Given the description of an element on the screen output the (x, y) to click on. 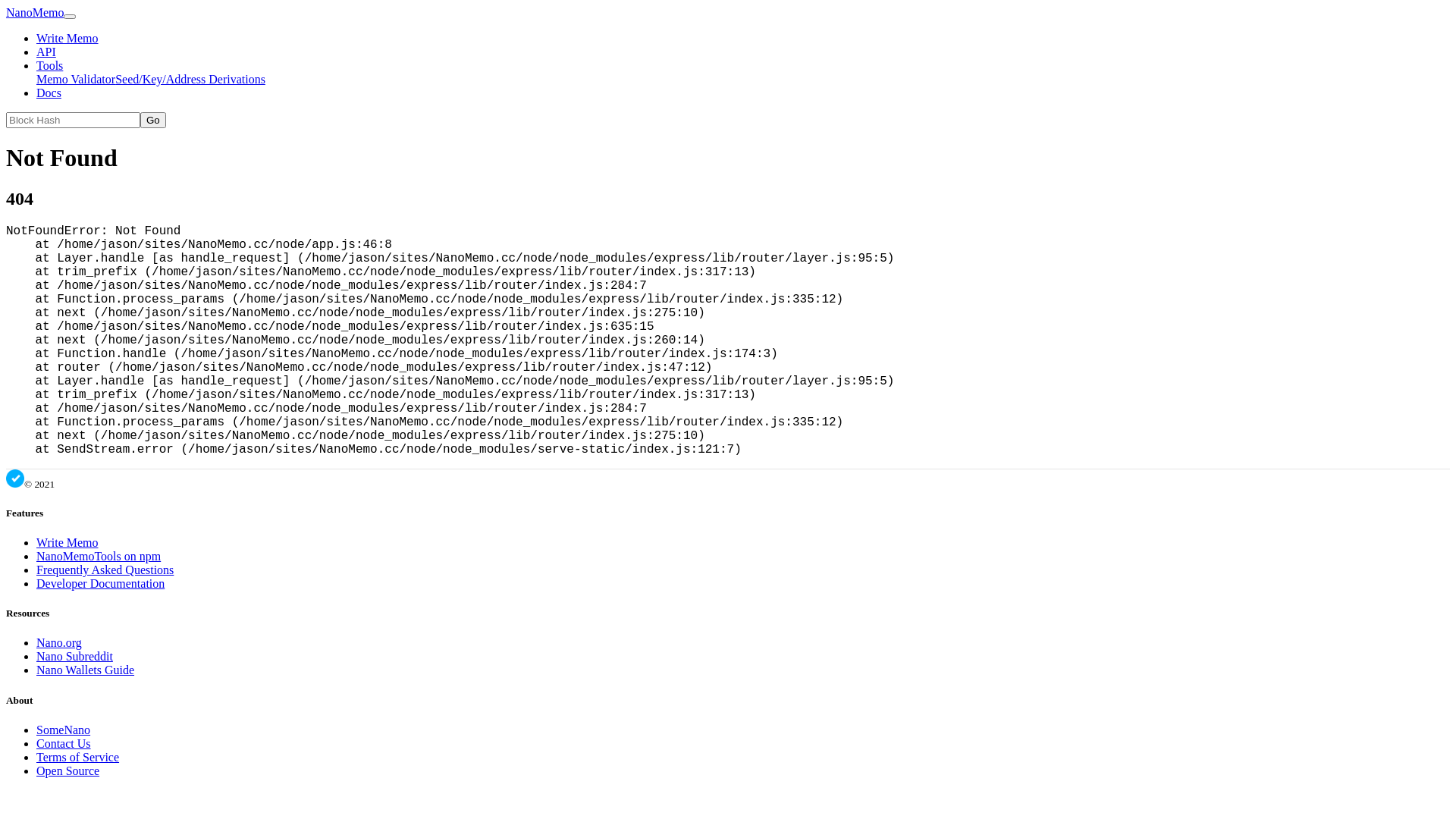
Memo Validator Element type: text (75, 78)
64-character hexadecimal string Element type: hover (73, 120)
Open Source Element type: text (67, 770)
Terms of Service Element type: text (77, 756)
NanoMemoTools on npm Element type: text (98, 555)
Frequently Asked Questions Element type: text (104, 569)
Seed/Key/Address Derivations Element type: text (190, 78)
Nano Subreddit Element type: text (74, 655)
Developer Documentation Element type: text (100, 583)
Write Memo Element type: text (67, 542)
Tools Element type: text (49, 65)
Nano Wallets Guide Element type: text (85, 669)
NanoMemo Element type: text (34, 12)
API Element type: text (46, 51)
Docs Element type: text (48, 92)
Nano.org Element type: text (58, 642)
SomeNano Element type: text (63, 729)
Write Memo Element type: text (67, 37)
Go Element type: text (153, 120)
Contact Us Element type: text (63, 743)
